Given the description of an element on the screen output the (x, y) to click on. 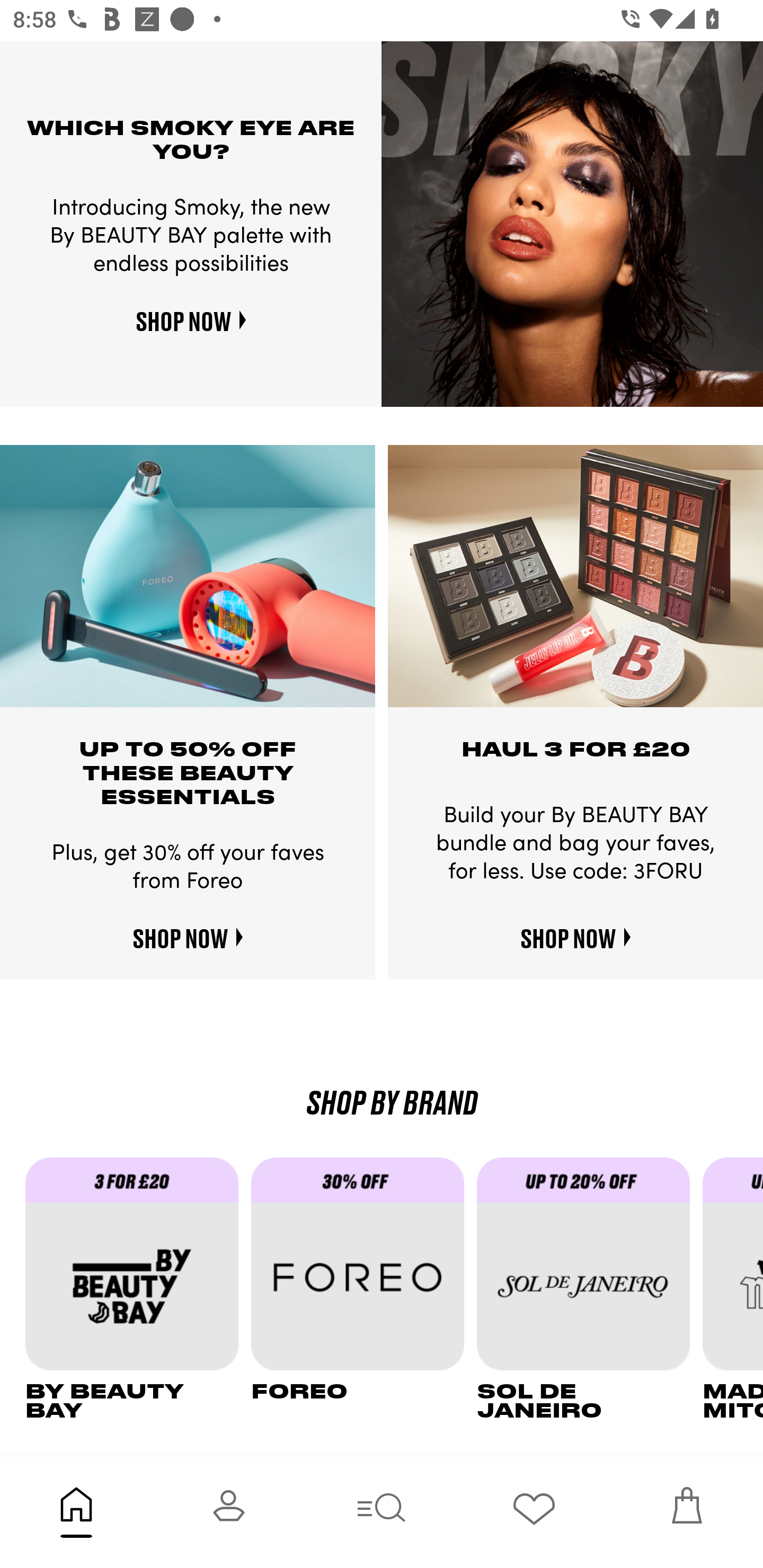
BY BEAUTY BAY (138, 1288)
FOREO (363, 1288)
SOL DE JANEIRO (589, 1288)
